Given the description of an element on the screen output the (x, y) to click on. 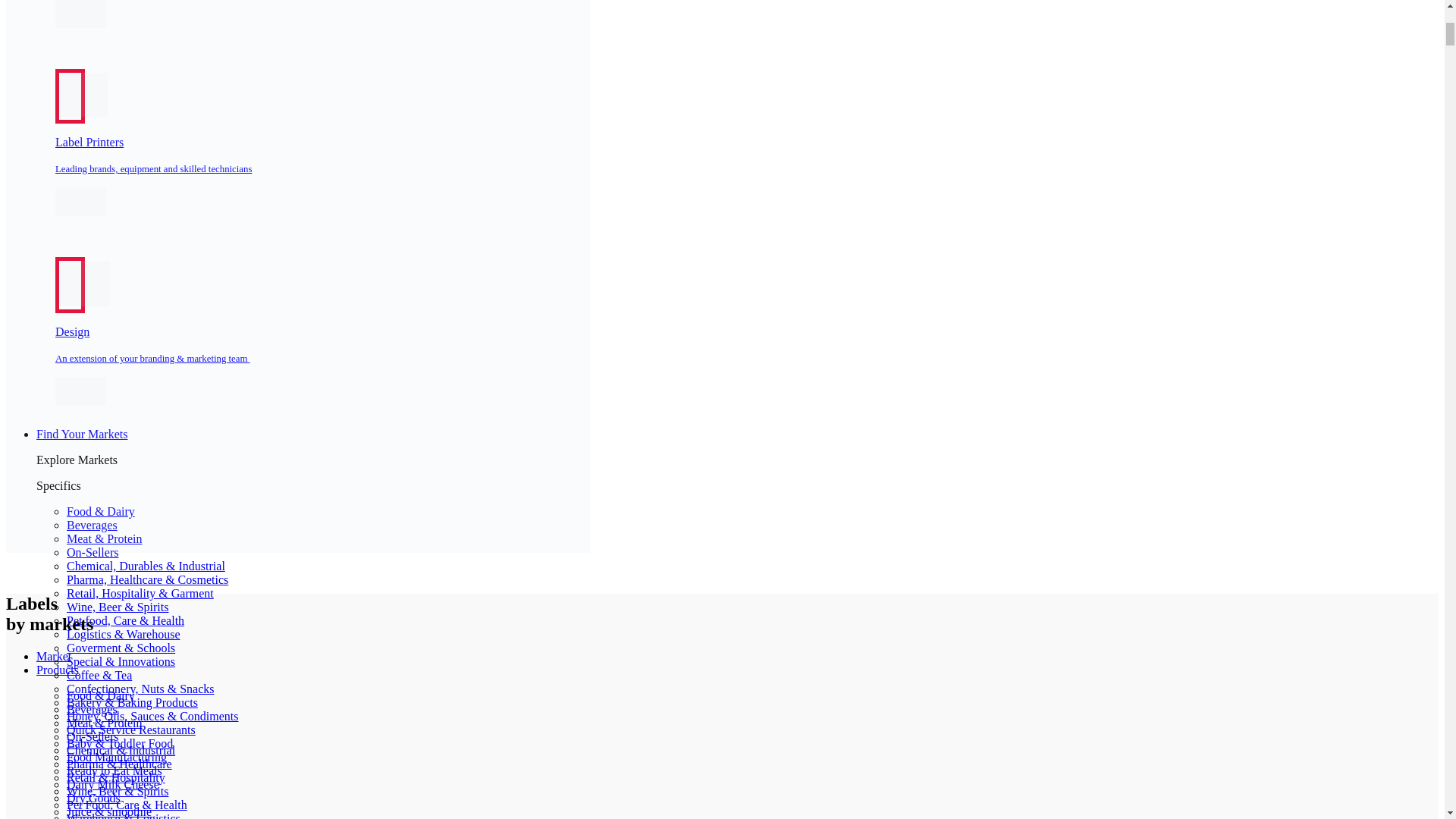
Quick Service Restaurants (130, 729)
On-Sellers (91, 552)
Dairy Milk Cheese (112, 784)
Find Your Markets (82, 433)
Dry Goods (93, 797)
Ready to Eat Meals (113, 770)
Food Manufacturing (116, 757)
Beverages (91, 524)
